Given the description of an element on the screen output the (x, y) to click on. 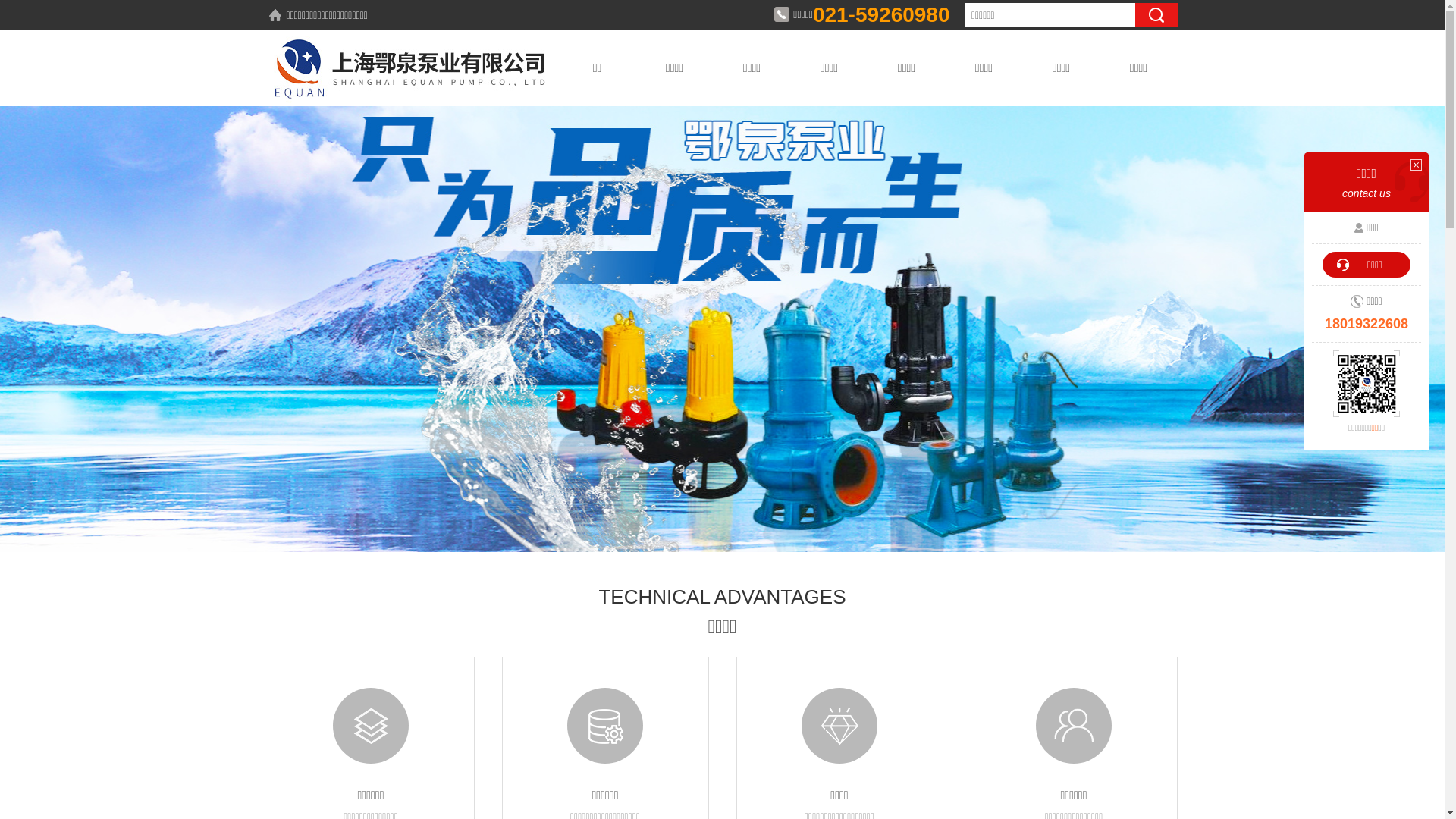
  Element type: text (1155, 15)
